Given the description of an element on the screen output the (x, y) to click on. 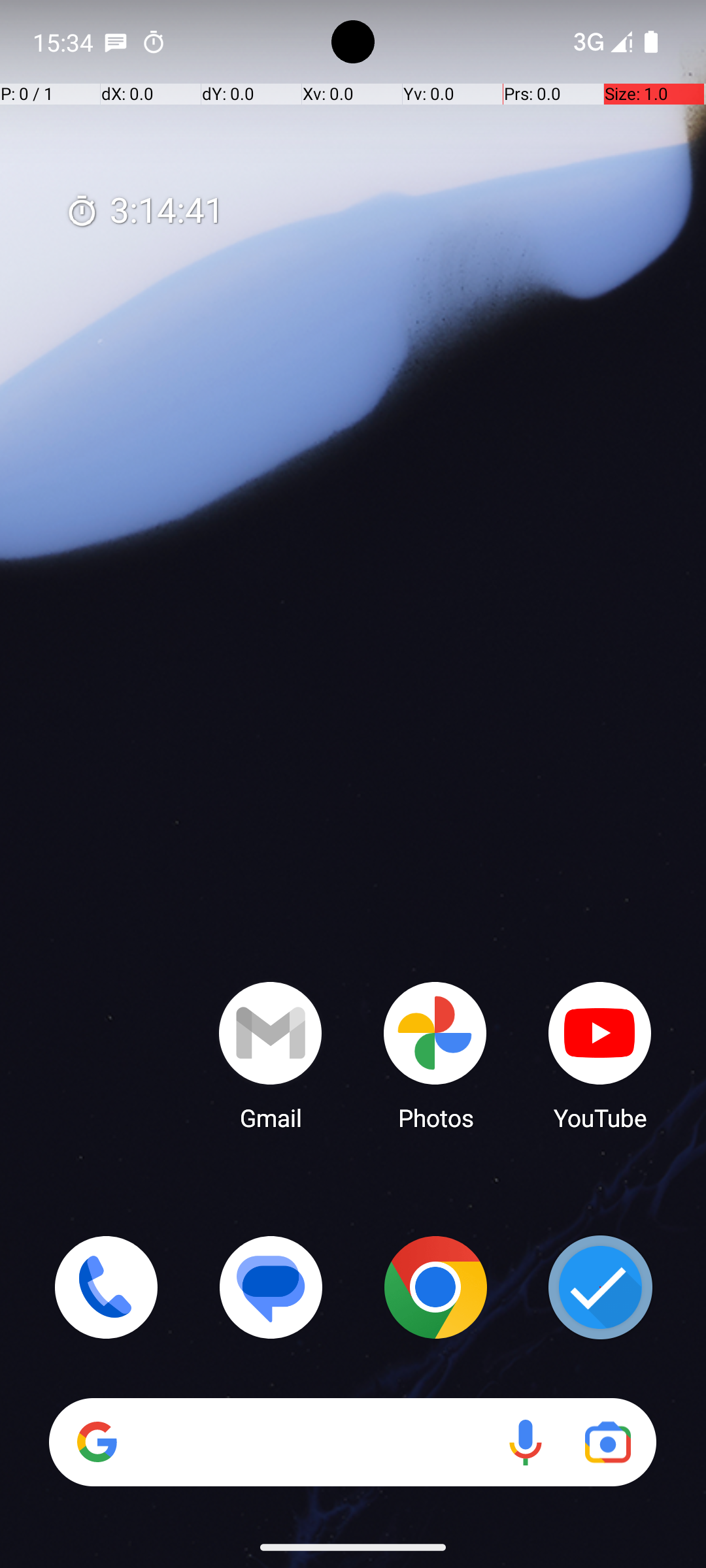
3:14:41 Element type: android.widget.TextView (144, 210)
